Given the description of an element on the screen output the (x, y) to click on. 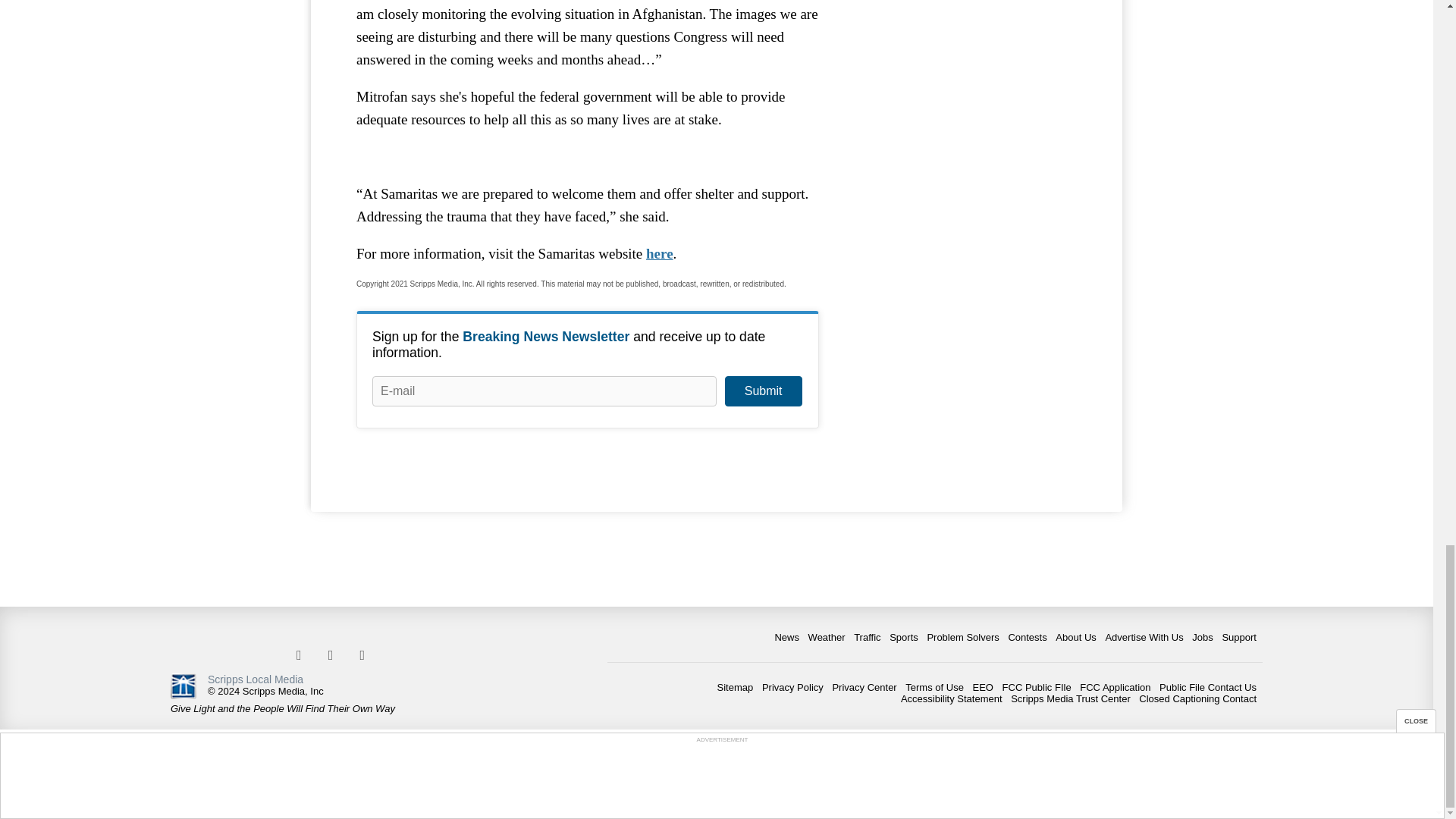
Submit (763, 390)
